Given the description of an element on the screen output the (x, y) to click on. 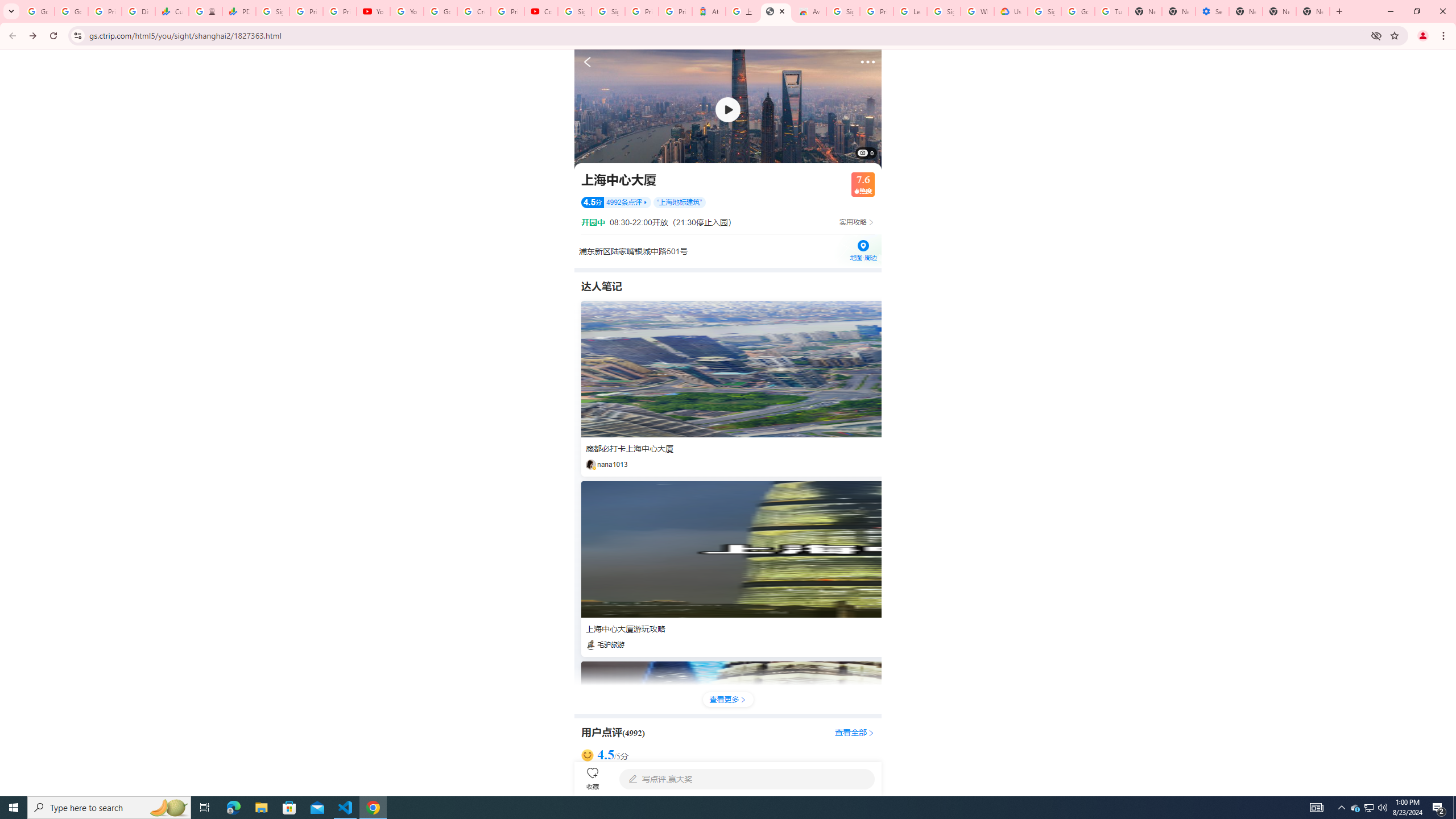
Privacy Checkup (339, 11)
Sign in - Google Accounts (943, 11)
Create your Google Account (474, 11)
New Tab (1246, 11)
Google Account Help (1077, 11)
Sign in - Google Accounts (1043, 11)
